Given the description of an element on the screen output the (x, y) to click on. 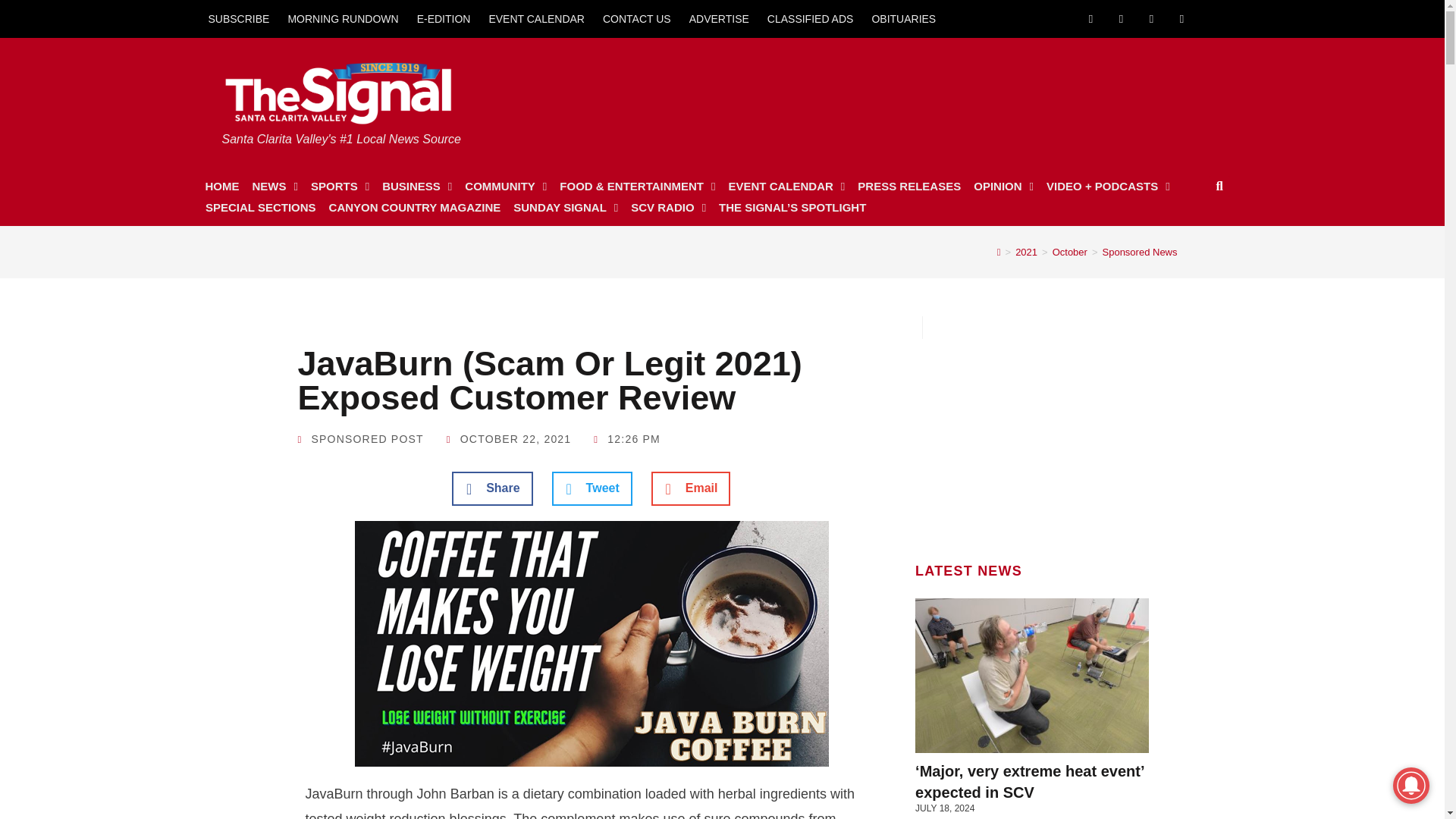
SUBSCRIBE (238, 18)
CLASSIFIED ADS (810, 18)
NEWS (274, 186)
ADVERTISE (718, 18)
OBITUARIES (902, 18)
MORNING RUNDOWN (342, 18)
3rd party ad content (932, 94)
E-EDITION (443, 18)
EVENT CALENDAR (536, 18)
HOME (221, 186)
CONTACT US (636, 18)
SPORTS (339, 186)
3rd party ad content (1031, 433)
